Given the description of an element on the screen output the (x, y) to click on. 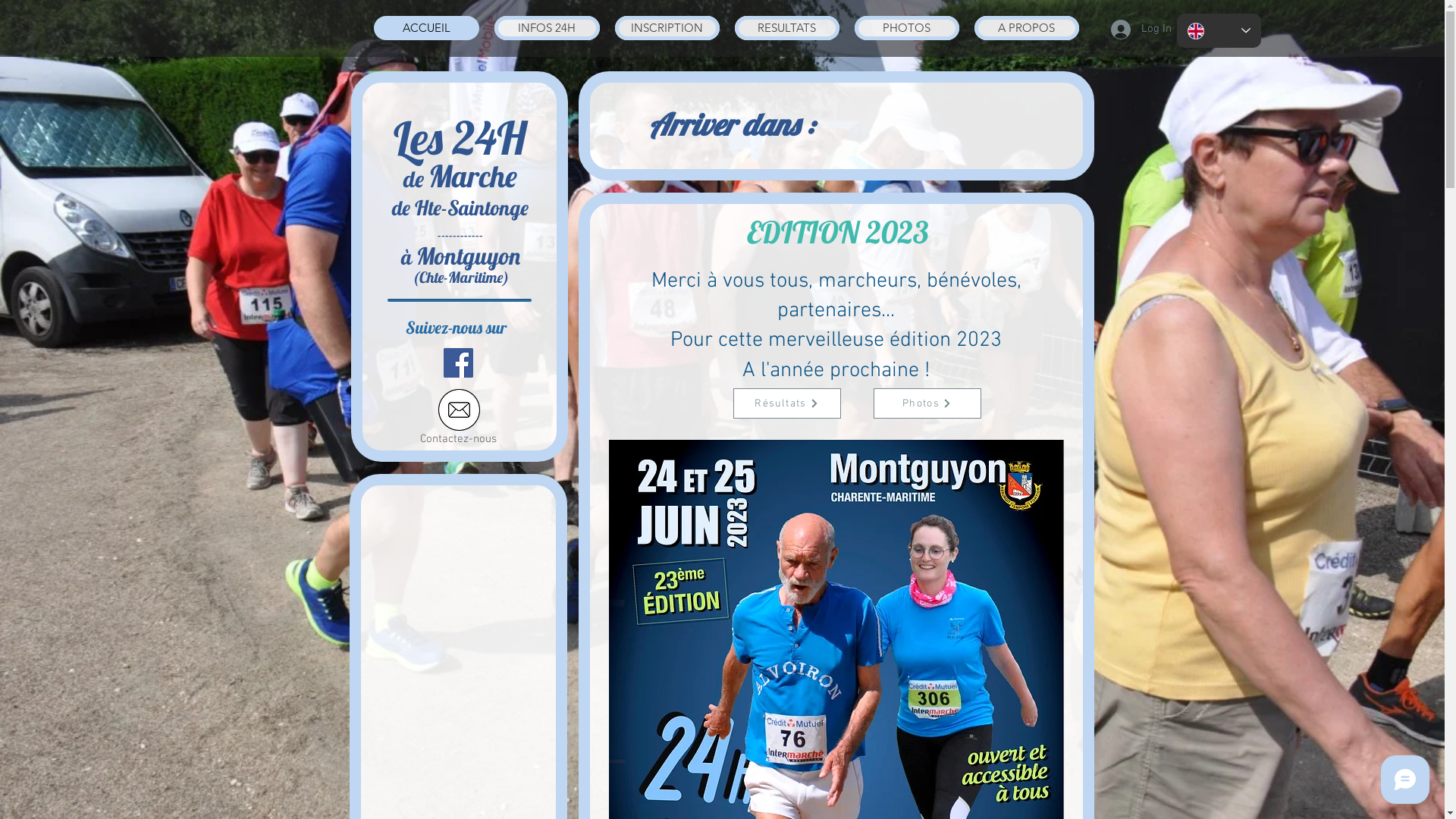
ACCUEIL Element type: text (425, 27)
Wix Countdown Clock Element type: hover (963, 125)
Site Search Element type: hover (463, 101)
Log In Element type: text (1130, 29)
Photos Element type: text (927, 403)
